Given the description of an element on the screen output the (x, y) to click on. 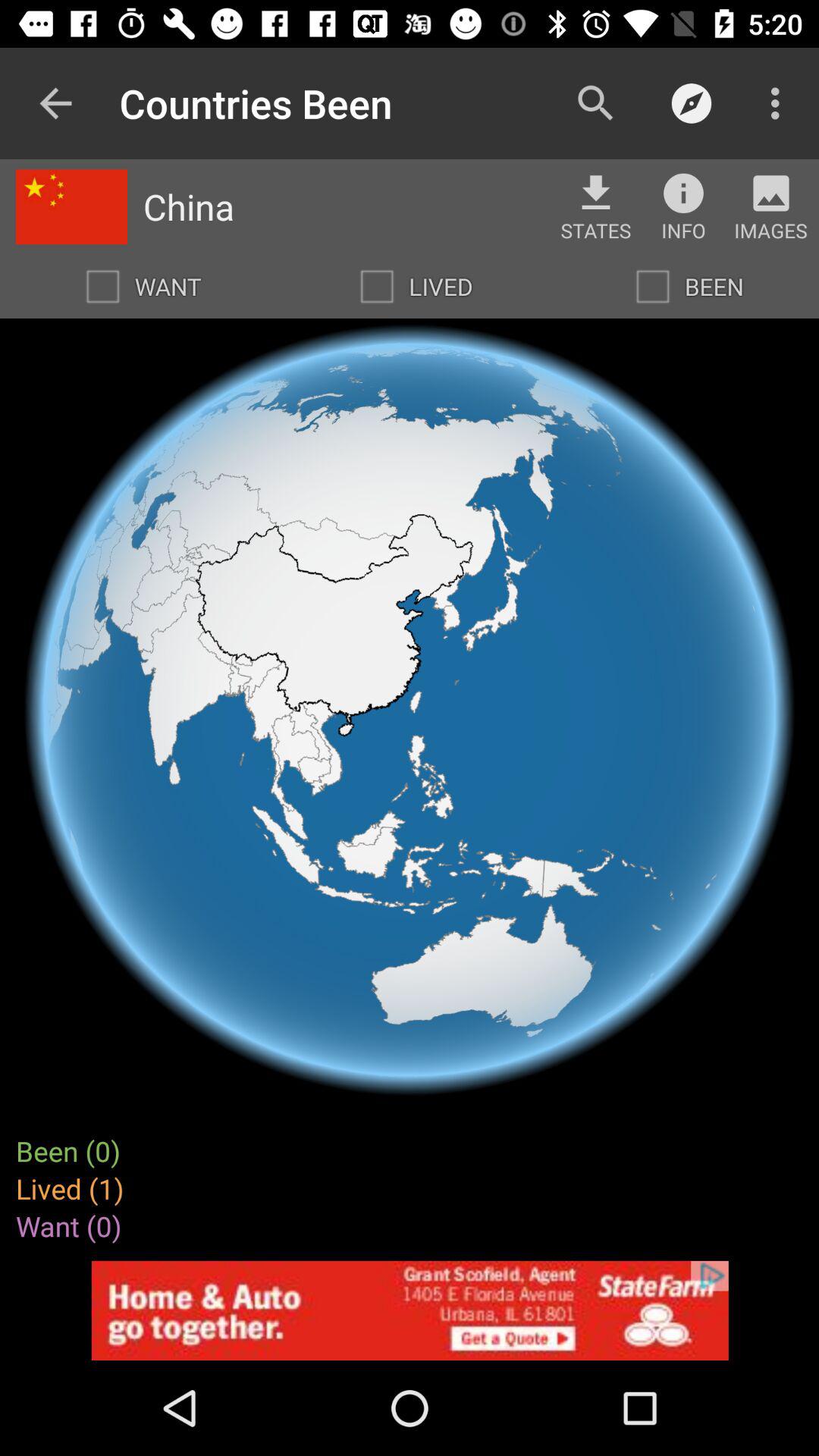
download (595, 193)
